Given the description of an element on the screen output the (x, y) to click on. 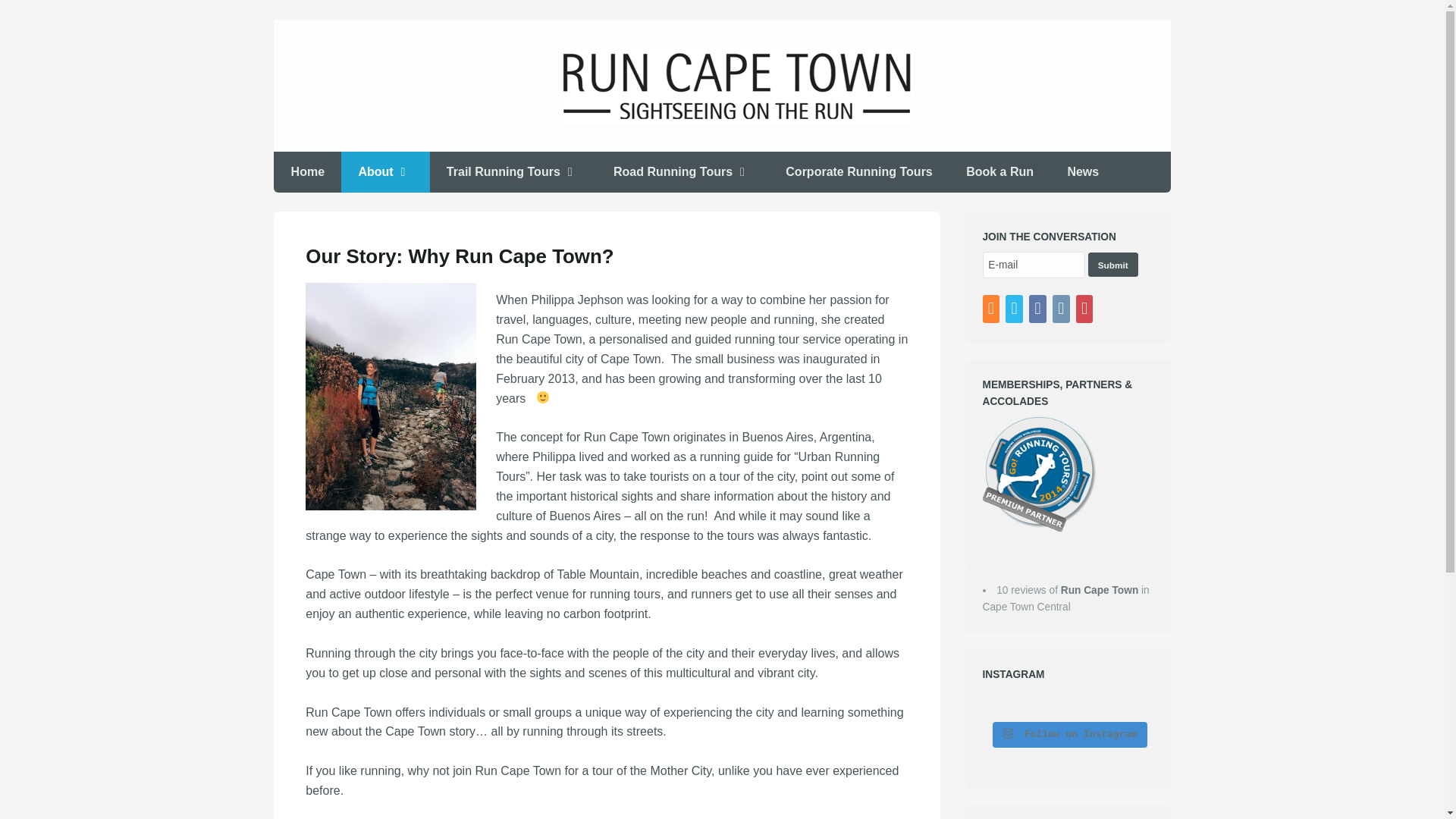
Follow on Instagram (1069, 734)
Submit (1112, 264)
Go Running Tours (1039, 474)
About (384, 171)
Facebook (1039, 310)
E-mail (1034, 264)
Trail Running Tours (512, 171)
RSS (992, 310)
Instagram (1062, 310)
Twitter (1016, 310)
Pinterest (1085, 310)
Corporate Running Tours (858, 171)
Road Running Tours (682, 171)
Run Cape Town (1099, 590)
Home (306, 171)
